Given the description of an element on the screen output the (x, y) to click on. 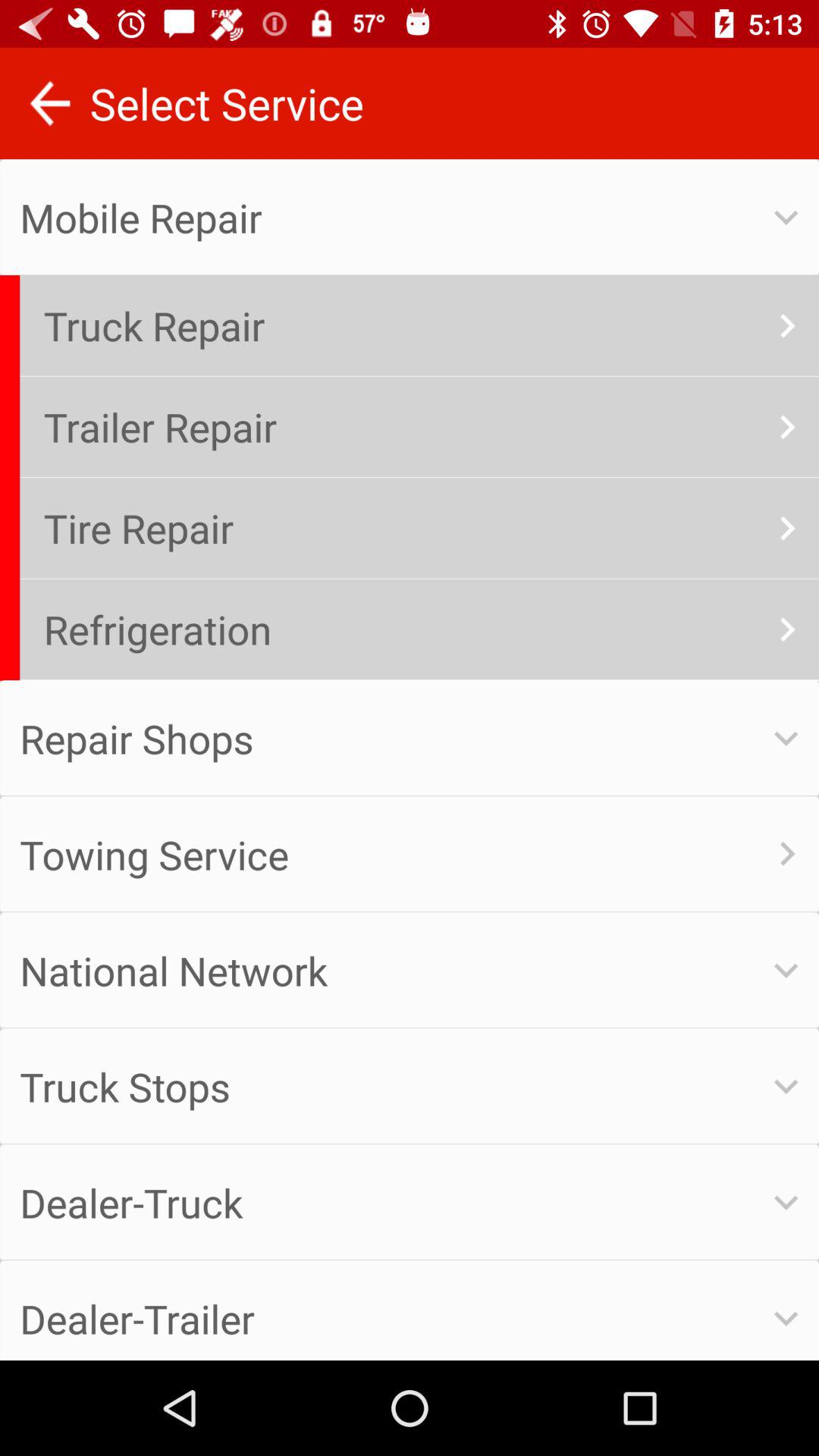
click on the forth right arrow button (787, 628)
select drop down right to dealertruck (787, 1202)
select the  symbol beside towing service option (787, 854)
